Given the description of an element on the screen output the (x, y) to click on. 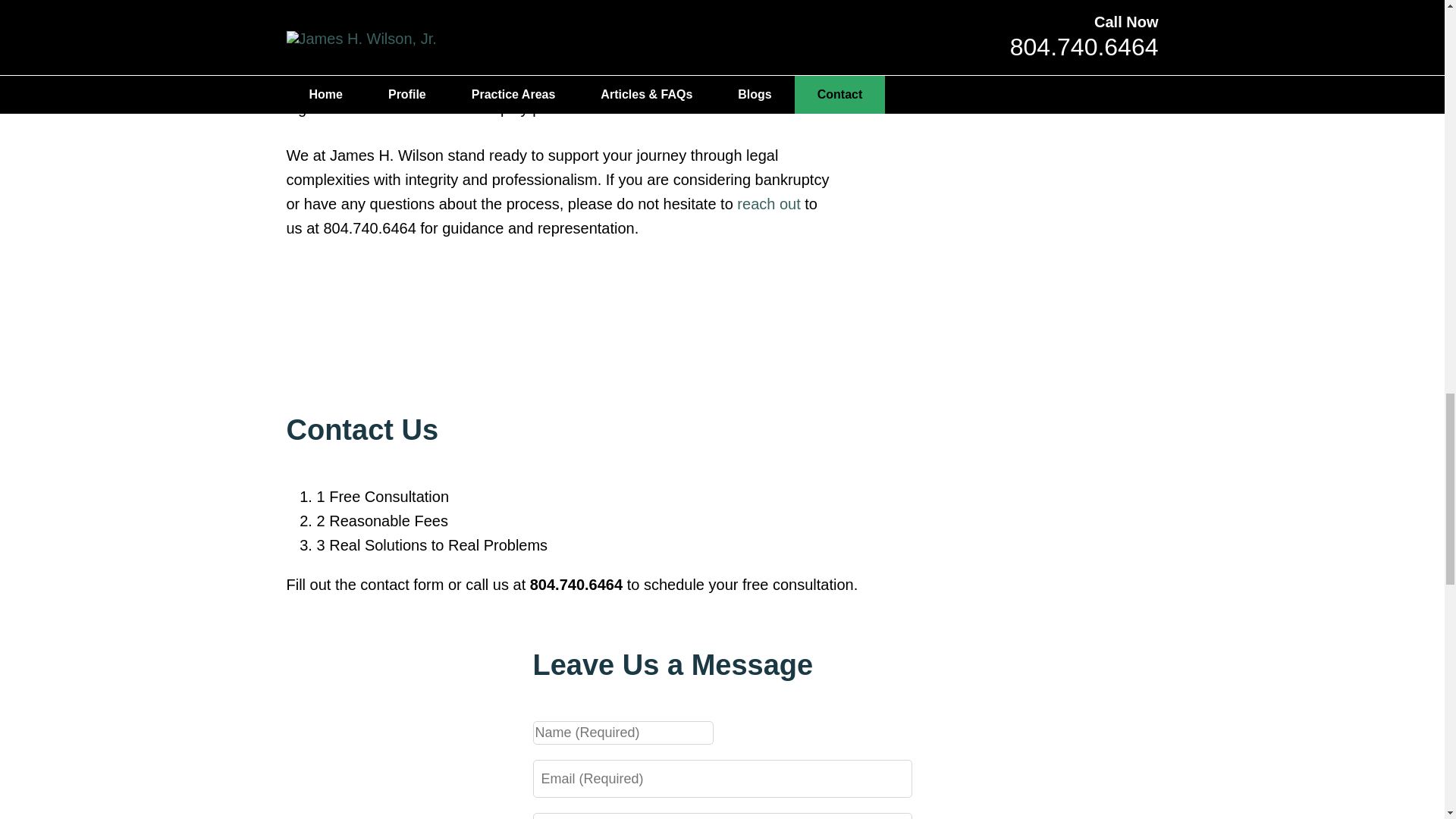
reach out (767, 203)
